Given the description of an element on the screen output the (x, y) to click on. 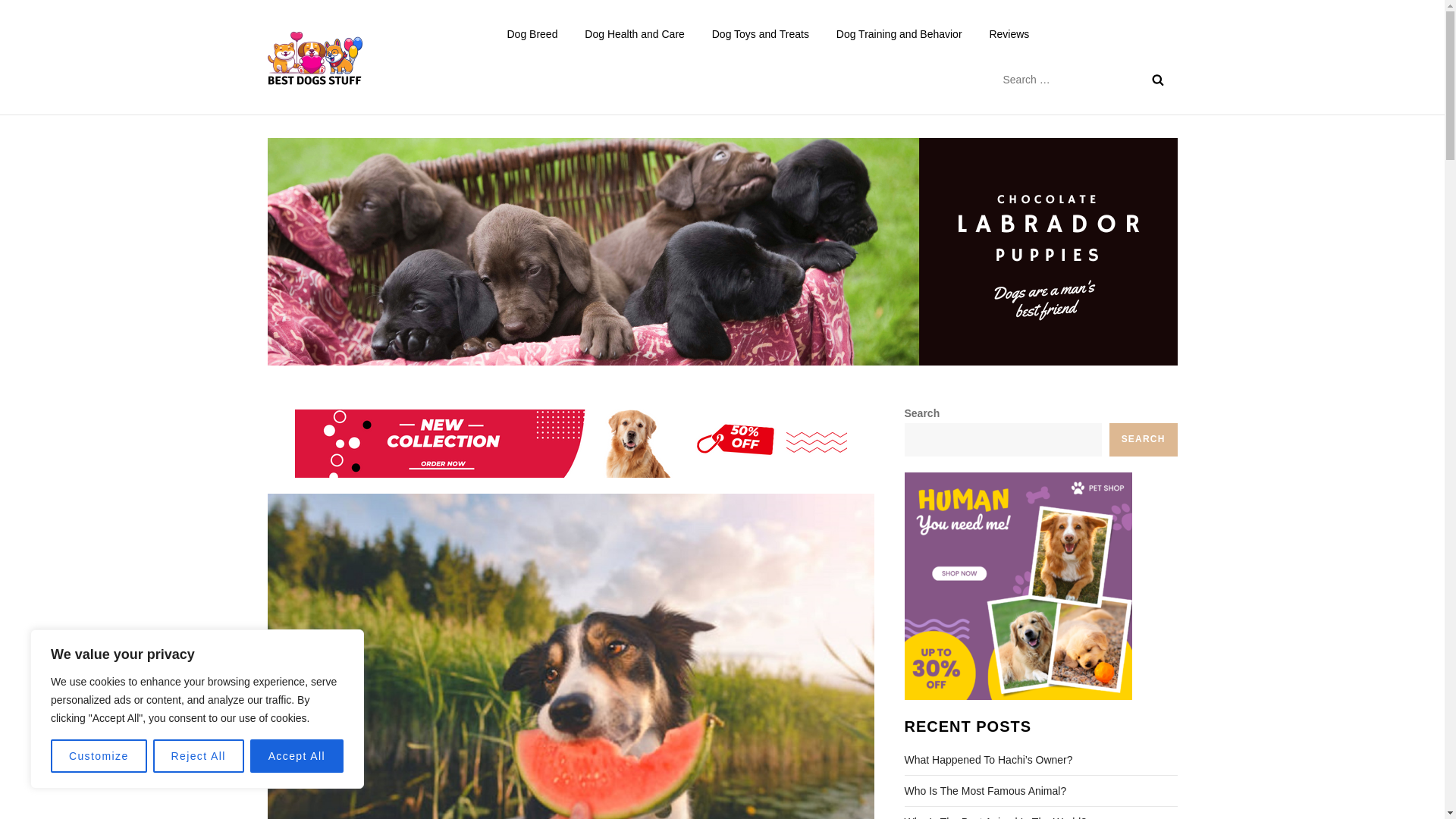
Accept All (296, 756)
Reviews (1008, 33)
Dog Breed (532, 33)
Reject All (198, 756)
Dog Toys and Treats (760, 33)
Dog Health and Care (634, 33)
Best Dogs Stuff (447, 69)
Customize (98, 756)
Dog Training and Behavior (899, 33)
